Given the description of an element on the screen output the (x, y) to click on. 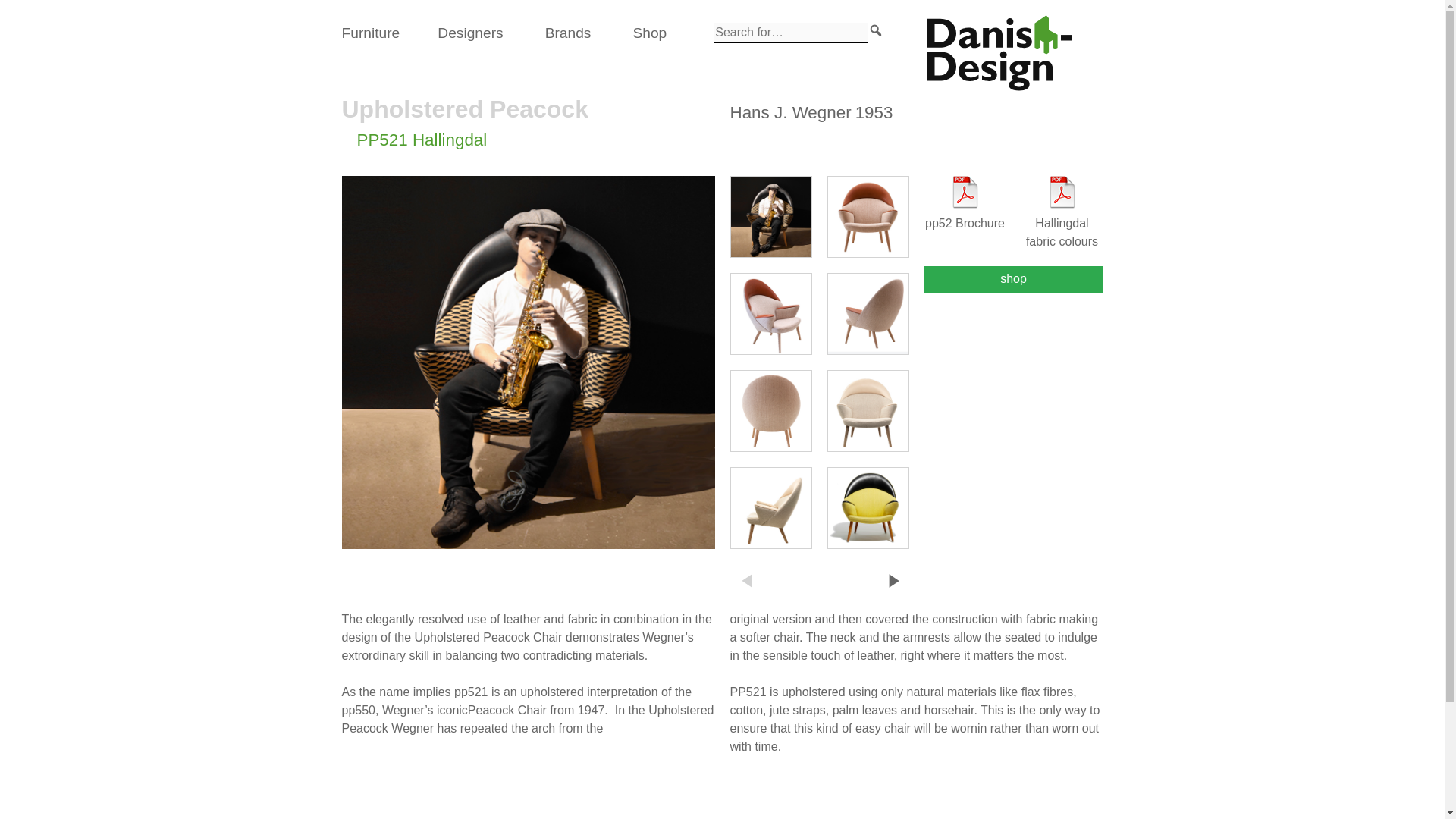
Brands (567, 33)
shop (1012, 279)
Hans J. Wegner1953 (810, 112)
pp52 Brochure (964, 204)
Shop (648, 33)
Search for: (790, 32)
Designers (470, 33)
Hallingdal fabric colours (1061, 213)
Furniture (369, 33)
pp52 Brochure (964, 204)
